Given the description of an element on the screen output the (x, y) to click on. 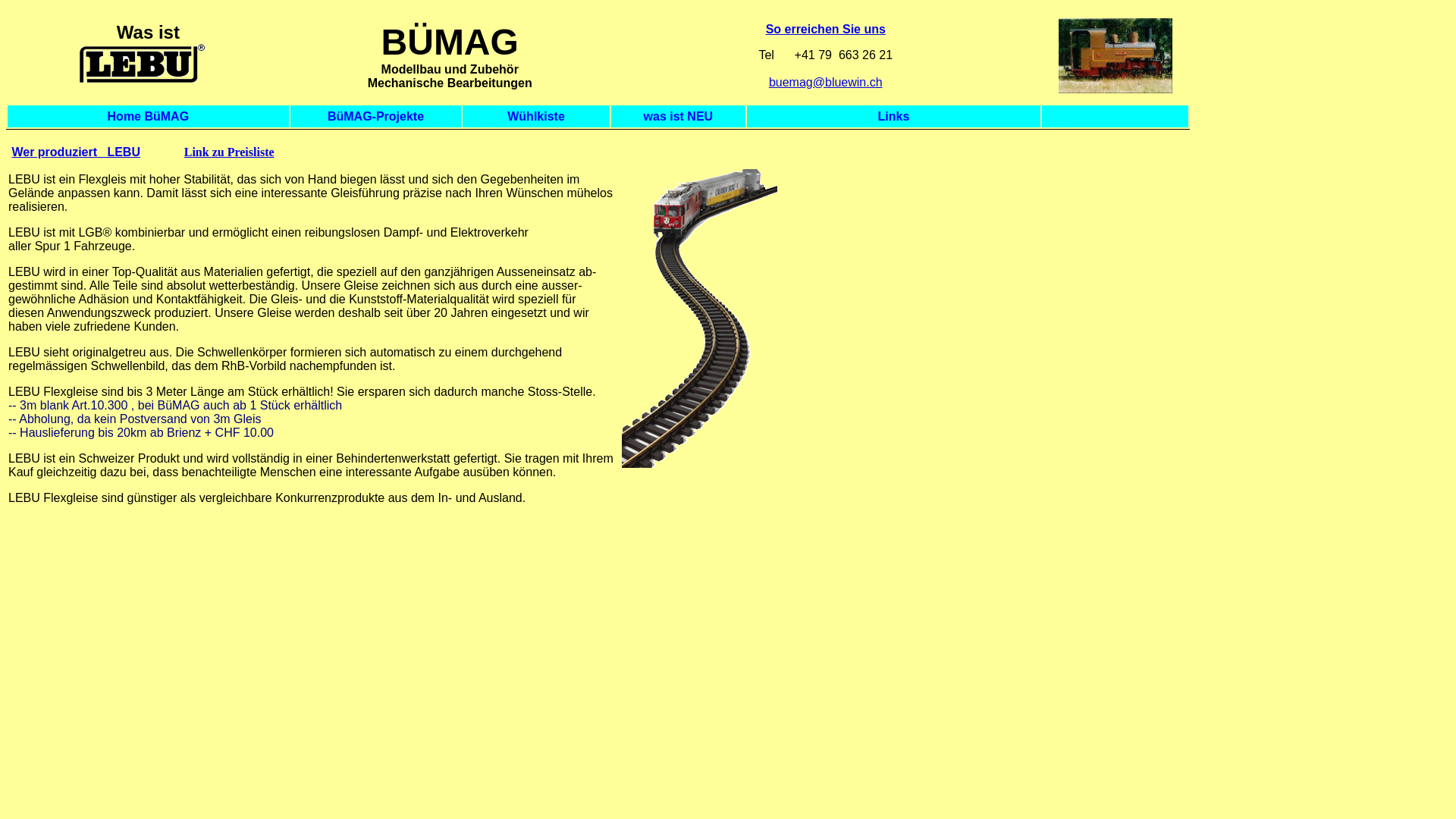
was ist NEU Element type: text (678, 115)
buemag@bluewin.ch Element type: text (825, 81)
Links Element type: text (894, 115)
Wer produziert   LEBU Element type: text (75, 151)
So erreichen Sie uns Element type: text (825, 28)
Link zu Preisliste Element type: text (229, 151)
